Given the description of an element on the screen output the (x, y) to click on. 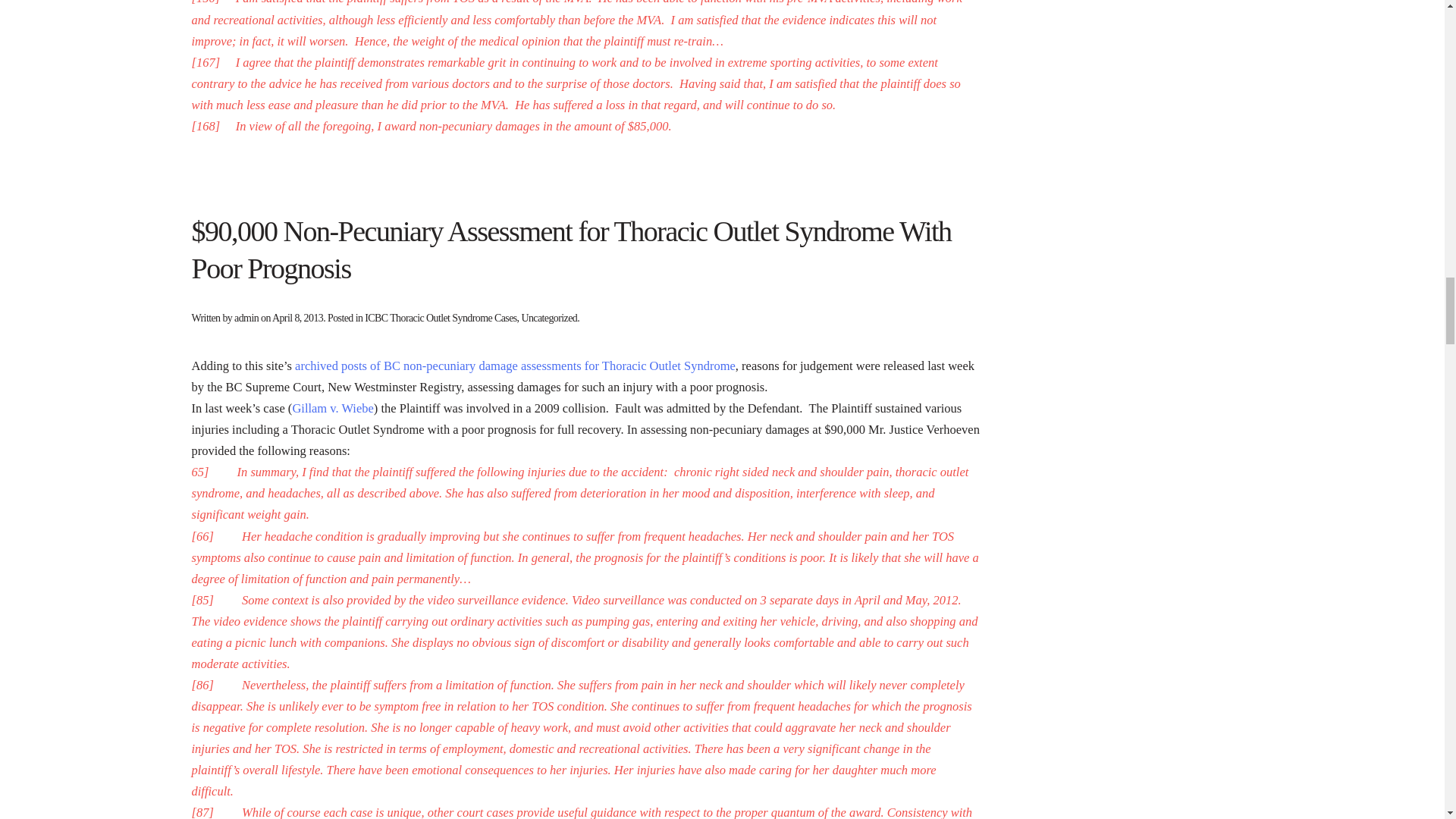
ICBC Thoracic Outlet Syndrome Cases (440, 317)
Uncategorized (548, 317)
Gillam v. Wiebe (332, 408)
admin (246, 317)
